Given the description of an element on the screen output the (x, y) to click on. 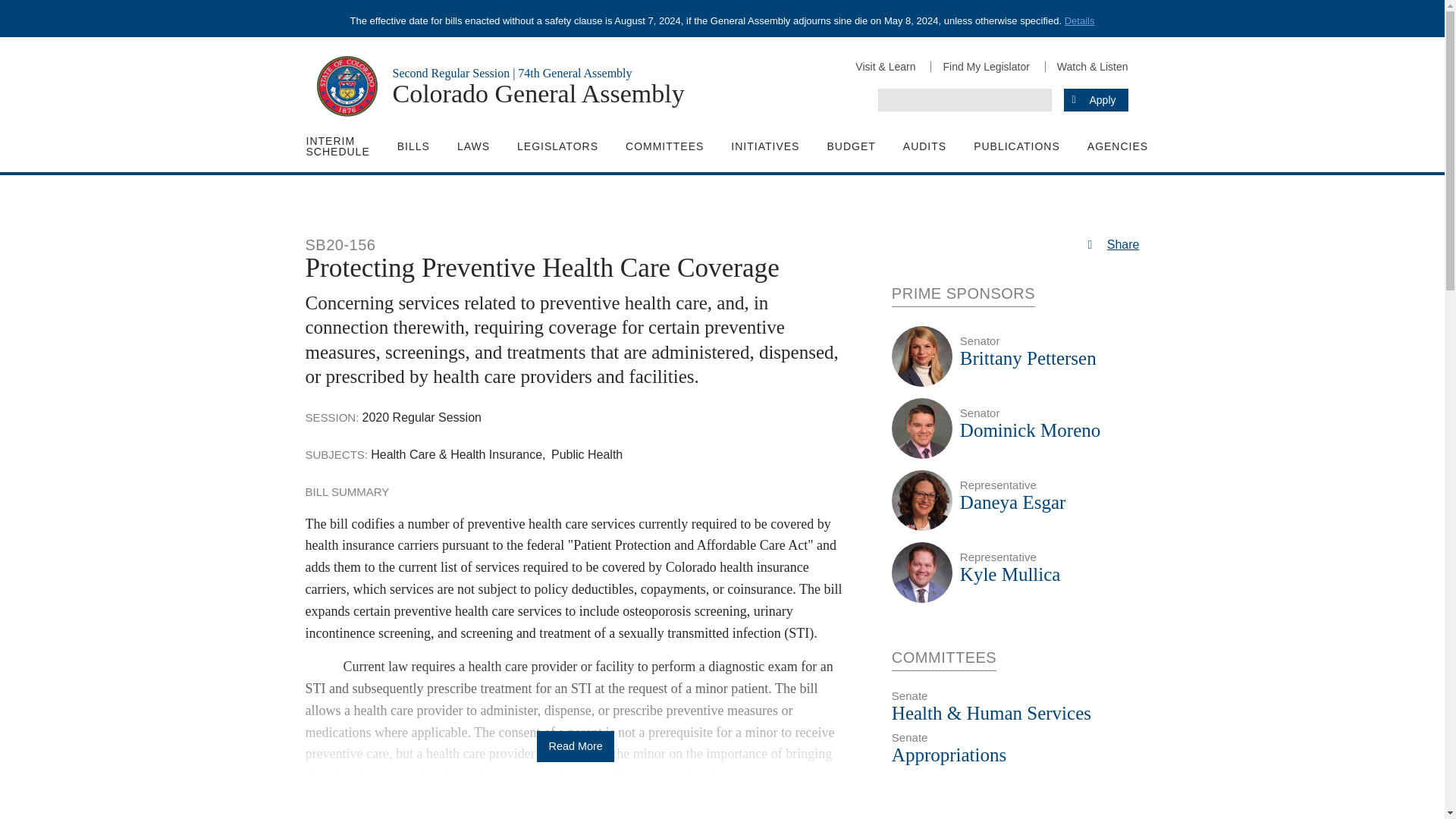
Apply (1094, 99)
Details (1079, 20)
